Given the description of an element on the screen output the (x, y) to click on. 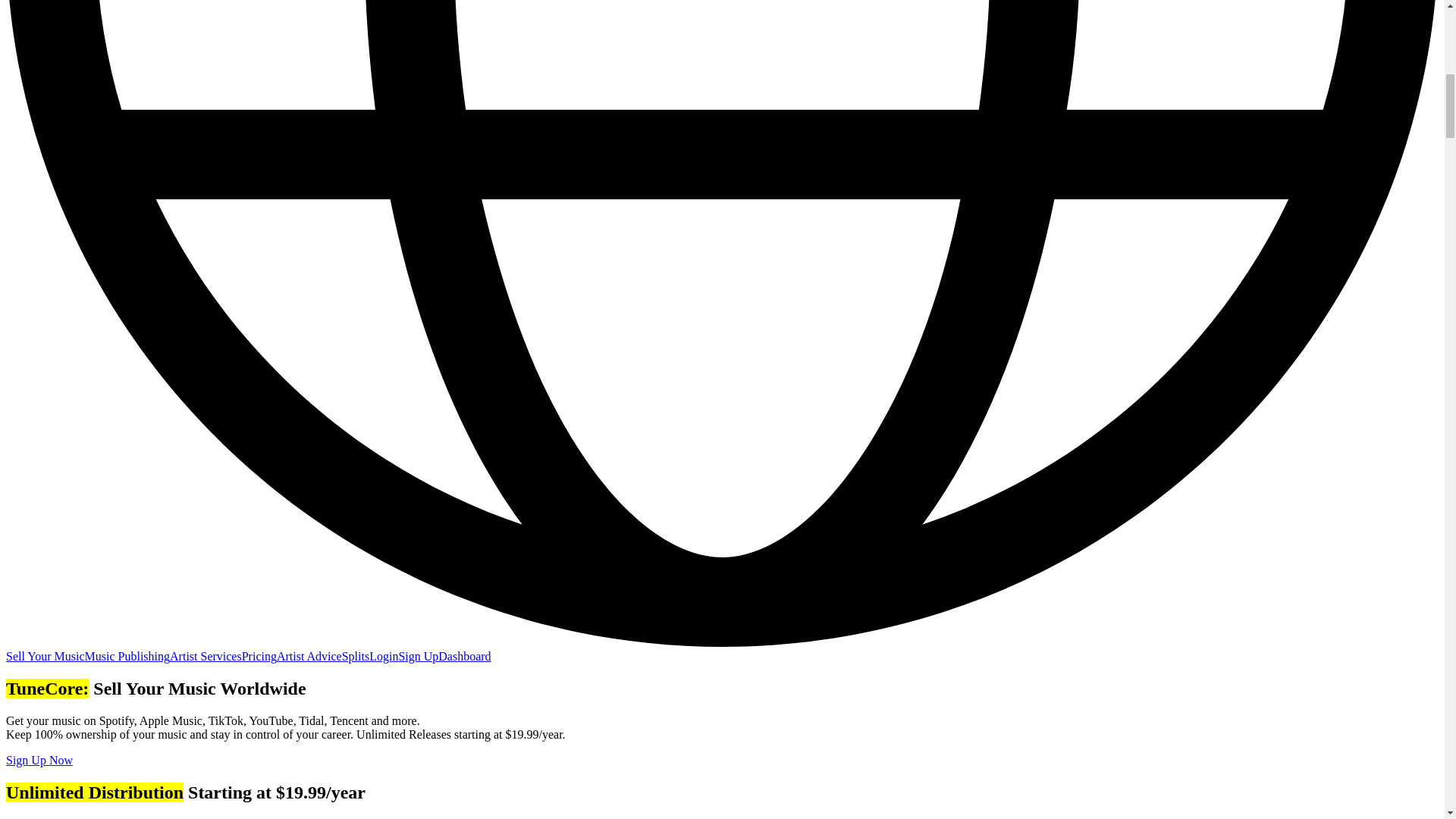
Sign Up Now (38, 759)
Dashboard (464, 656)
Sign Up (417, 656)
Pricing (258, 656)
Splits (355, 656)
Artist Advice (309, 656)
Login (383, 656)
Sell Your Music (44, 656)
Music Publishing (127, 656)
Artist Services (205, 656)
